Given the description of an element on the screen output the (x, y) to click on. 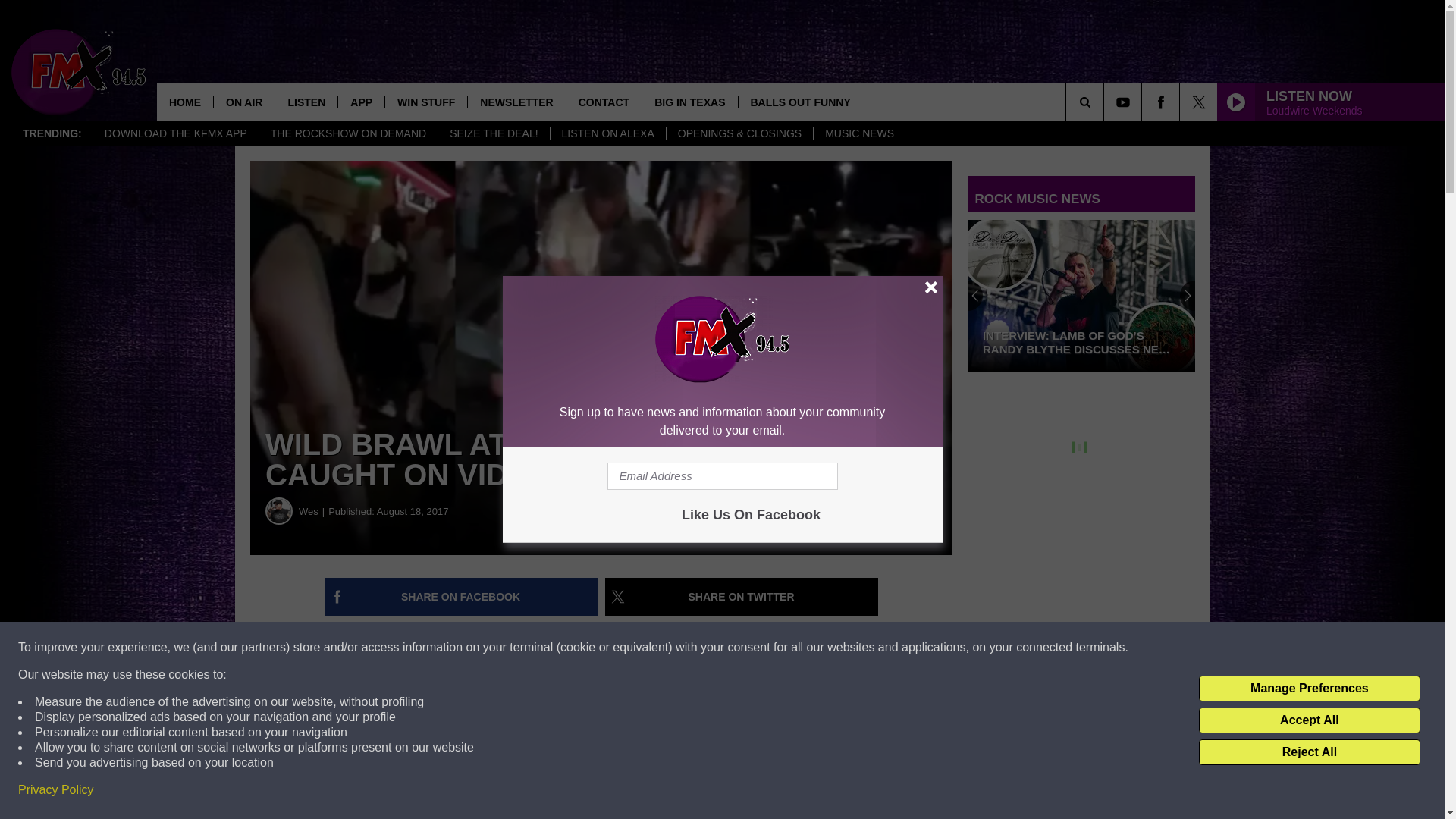
WIN STUFF (425, 102)
LISTEN ON ALEXA (607, 133)
THE ROCKSHOW ON DEMAND (348, 133)
SEIZE THE DEAL! (493, 133)
Privacy Policy (55, 789)
MUSIC NEWS (858, 133)
DOWNLOAD THE KFMX APP (176, 133)
APP (360, 102)
ON AIR (243, 102)
SEARCH (1106, 102)
Share on Twitter (741, 596)
LISTEN (306, 102)
TRENDING: (52, 133)
Email Address (722, 475)
Reject All (1309, 751)
